Given the description of an element on the screen output the (x, y) to click on. 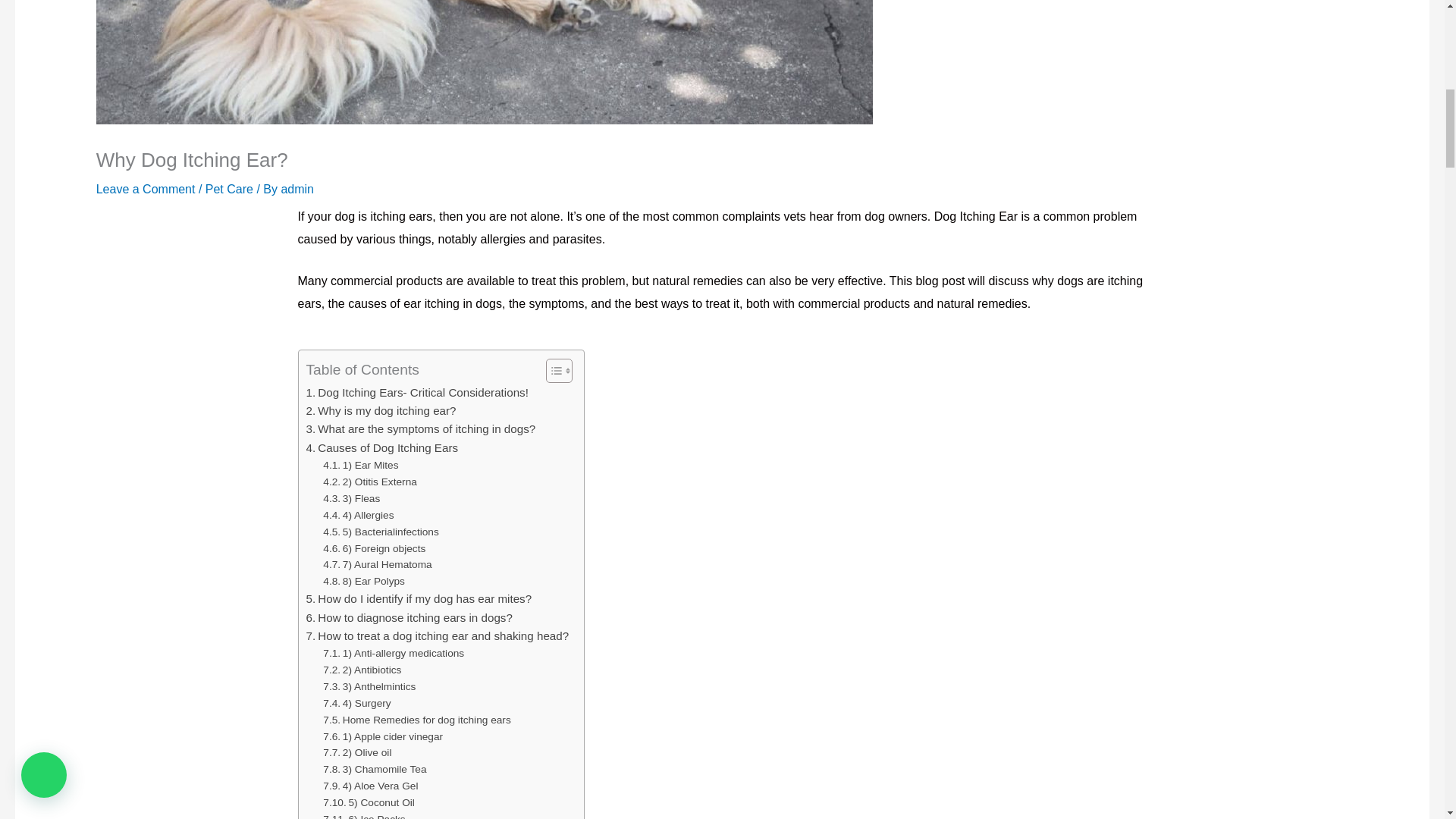
How to treat a dog itching ear and shaking head? (437, 636)
How to diagnose itching ears in dogs? (408, 617)
How do I identify if my dog has ear mites? (418, 598)
Dog Itching Ears- Critical Considerations! (416, 393)
View all posts by admin (297, 188)
How do I identify if my dog has ear mites? (418, 598)
Pet Care (229, 188)
Causes of Dog Itching Ears (381, 447)
Dog Itching Ears- Critical Considerations! (416, 393)
Home Remedies for dog itching ears (417, 719)
